Given the description of an element on the screen output the (x, y) to click on. 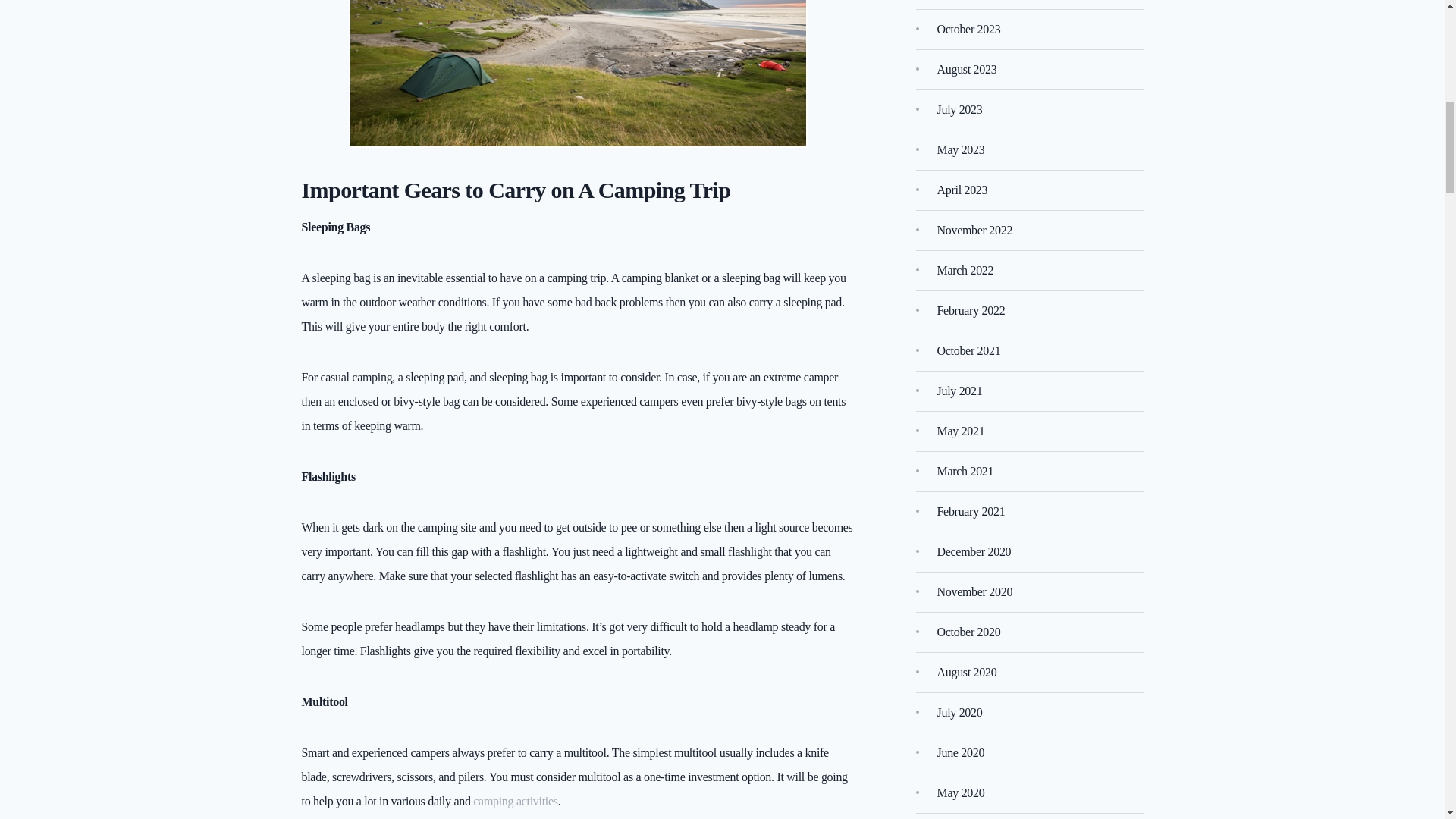
August 2023 (967, 68)
April 2023 (962, 189)
November 2022 (975, 228)
October 2021 (969, 350)
February 2022 (971, 309)
March 2022 (965, 269)
July 2023 (959, 109)
May 2023 (961, 148)
October 2023 (969, 29)
camping activities (515, 800)
